Given the description of an element on the screen output the (x, y) to click on. 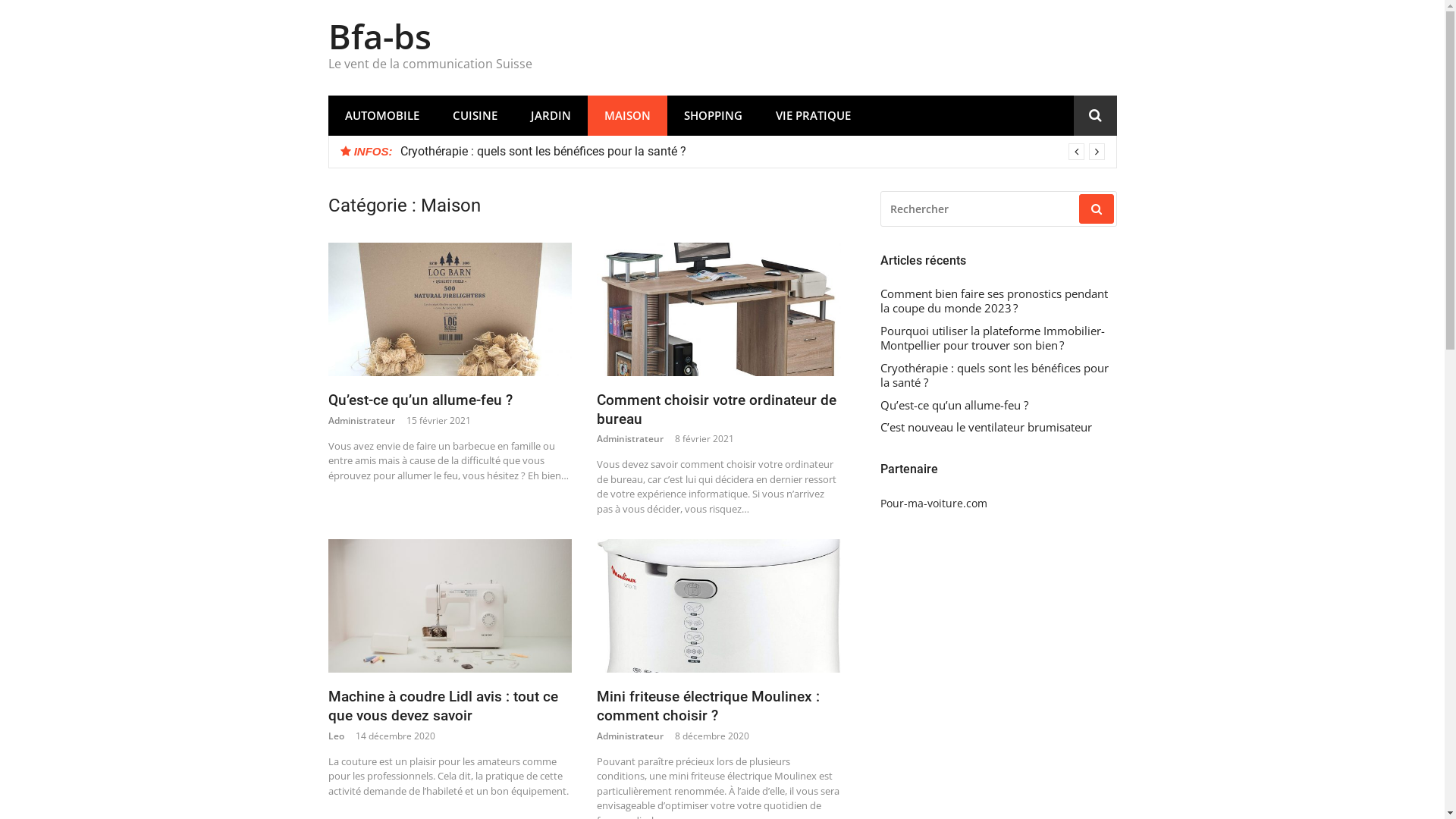
Bfa-bs Element type: text (378, 35)
CUISINE Element type: text (474, 115)
AUTOMOBILE Element type: text (381, 115)
Comment choisir votre ordinateur de bureau Element type: text (716, 409)
Leo Element type: text (335, 735)
SHOPPING Element type: text (713, 115)
Administrateur Element type: text (629, 735)
Comment choisir votre ordinateur de bureau Element type: hover (718, 309)
Administrateur Element type: text (360, 420)
JARDIN Element type: text (550, 115)
VIE PRATIQUE Element type: text (812, 115)
Administrateur Element type: text (629, 438)
MAISON Element type: text (626, 115)
Pour-ma-voiture.com Element type: text (932, 502)
